Given the description of an element on the screen output the (x, y) to click on. 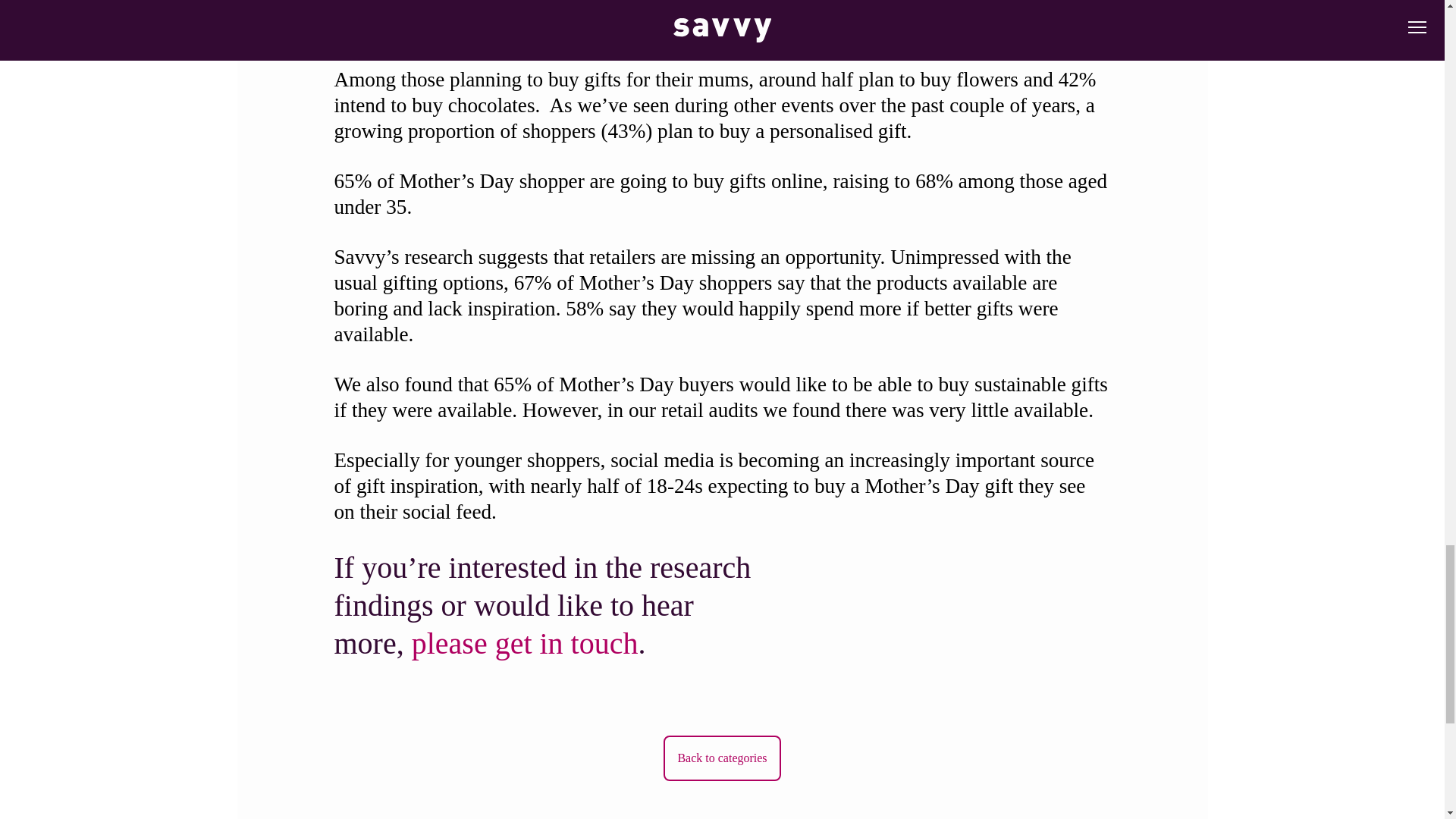
Back to categories (721, 758)
please get in touch (525, 643)
